Given the description of an element on the screen output the (x, y) to click on. 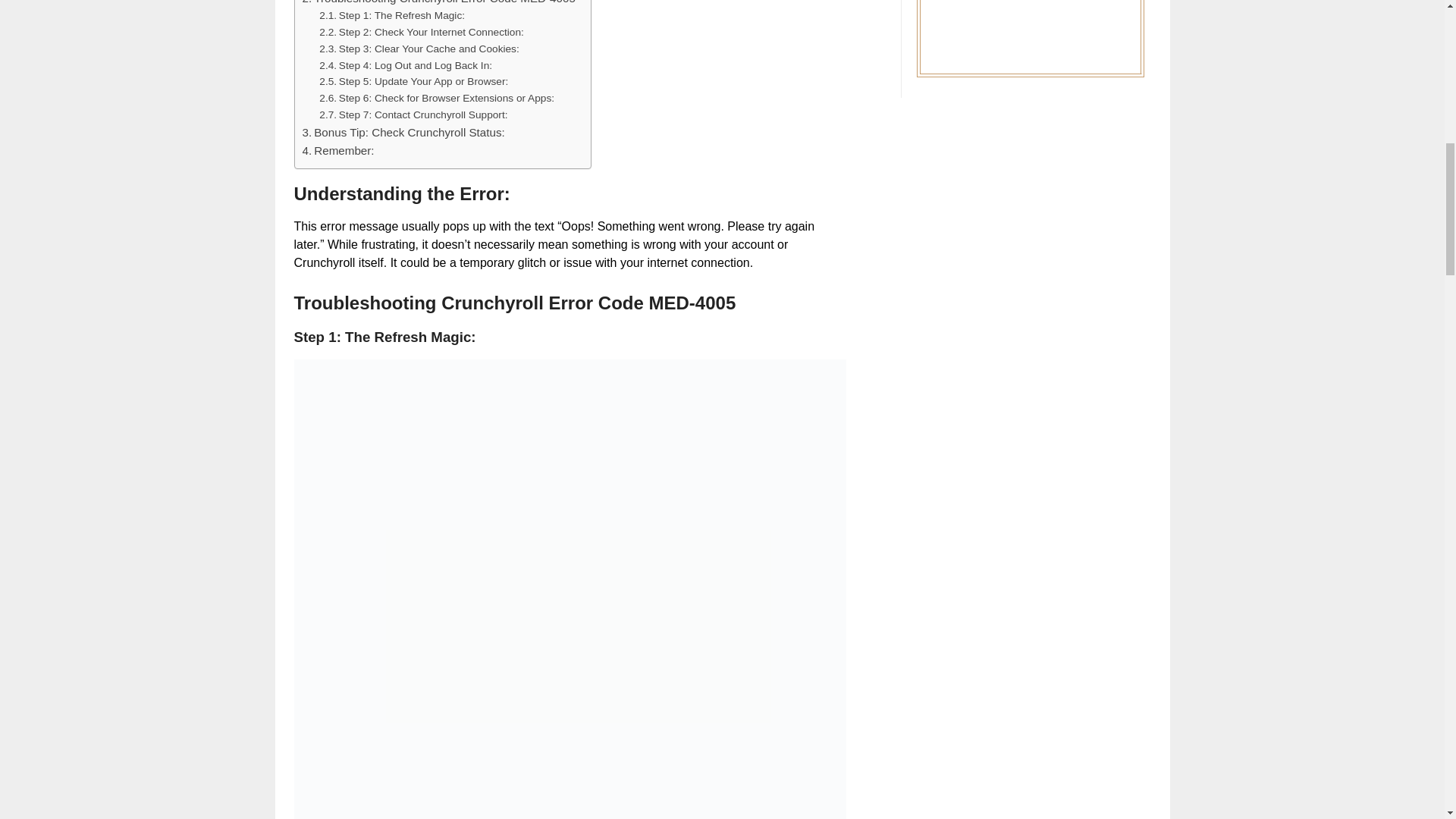
Remember: (337, 150)
Step 6: Check for Browser Extensions or Apps: (436, 98)
Step 2: Check Your Internet Connection: (421, 32)
Step 6: Check for Browser Extensions or Apps: (436, 98)
Step 1: The Refresh Magic: (391, 15)
Step 5: Update Your App or Browser: (413, 81)
Step 1: The Refresh Magic: (391, 15)
Bonus Tip: Check Crunchyroll Status: (402, 132)
Step 5: Update Your App or Browser: (413, 81)
Step 7: Contact Crunchyroll Support: (412, 115)
Step 4: Log Out and Log Back In: (405, 65)
Step 3: Clear Your Cache and Cookies: (418, 48)
Bonus Tip: Check Crunchyroll Status: (402, 132)
Remember: (337, 150)
Step 2: Check Your Internet Connection: (421, 32)
